Given the description of an element on the screen output the (x, y) to click on. 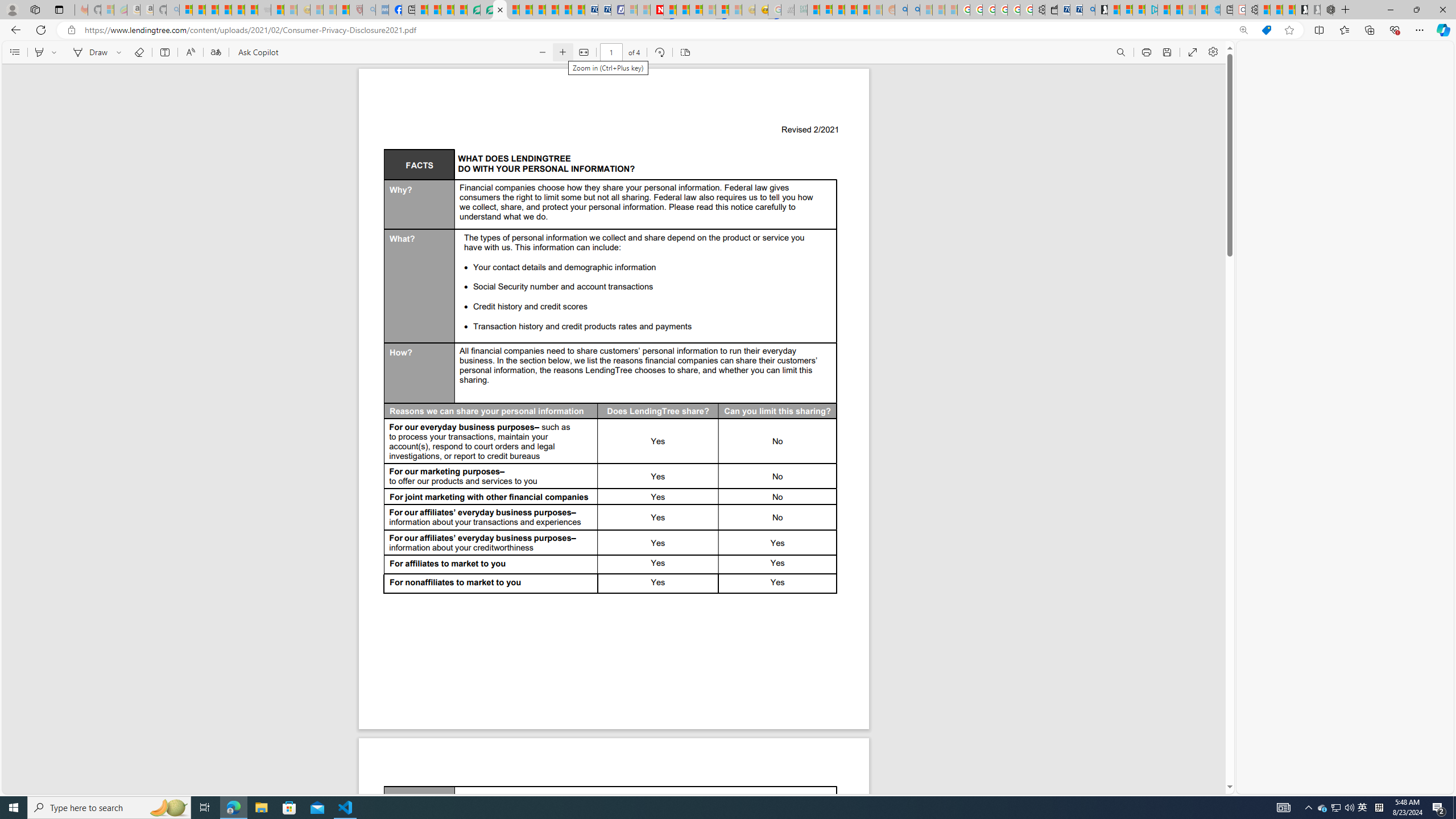
Enter PDF full screen (1192, 52)
Utah sues federal government - Search (913, 9)
Find (Ctrl + F) (1120, 52)
Terms of Use Agreement (486, 9)
Select a highlight color (56, 52)
